Given the description of an element on the screen output the (x, y) to click on. 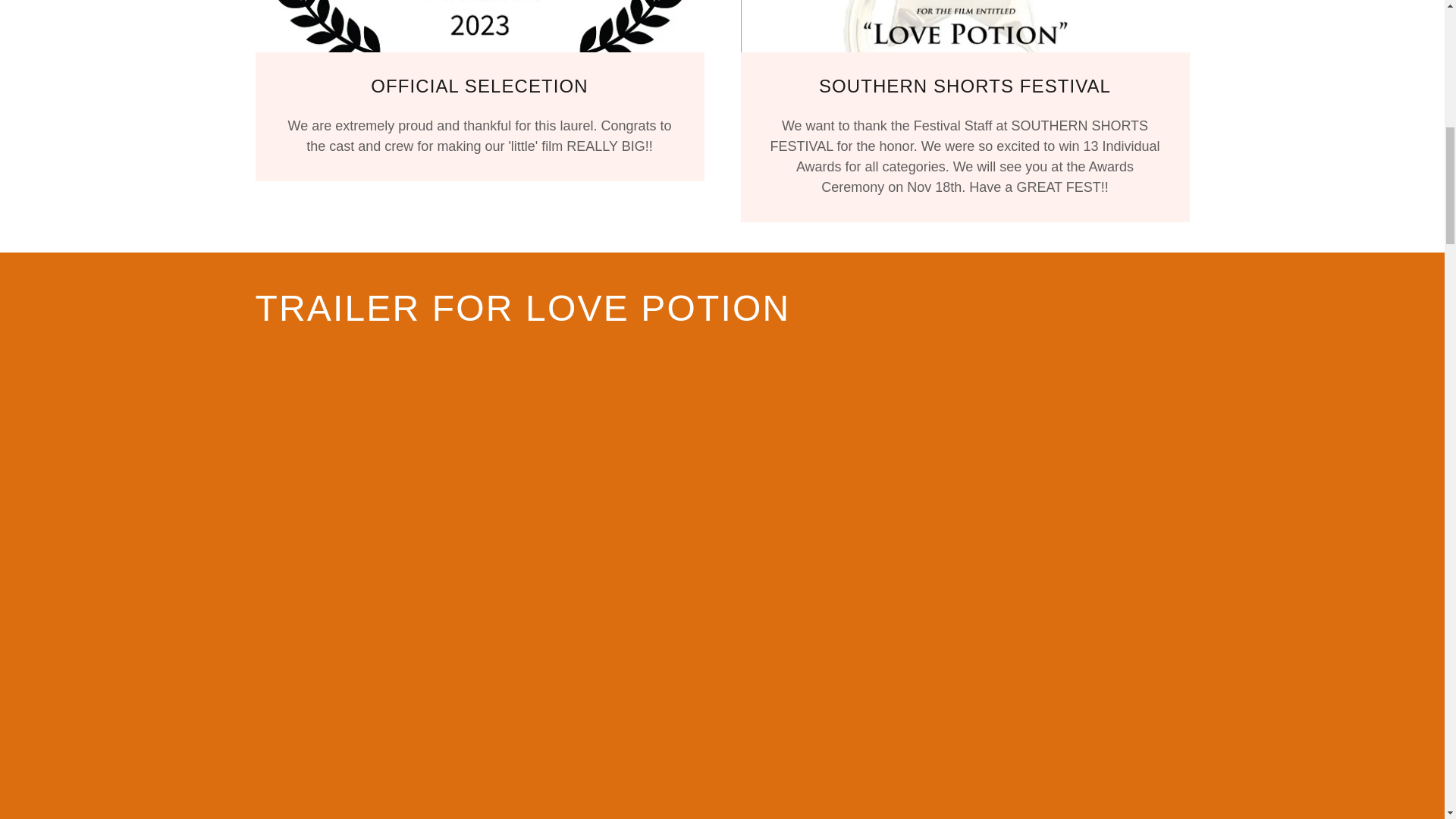
ACCEPT (1274, 324)
